Given the description of an element on the screen output the (x, y) to click on. 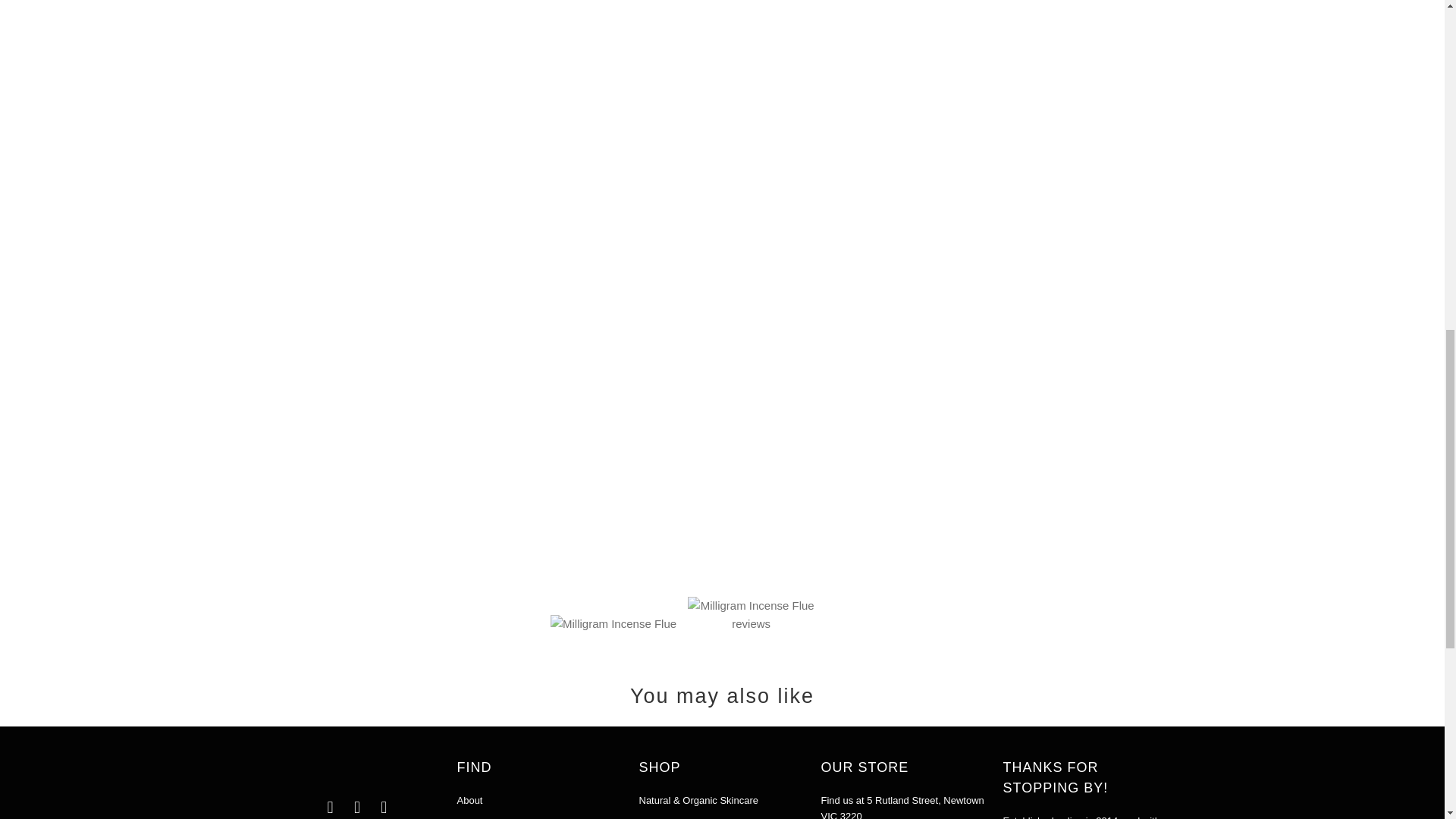
Natural Supply Co on Instagram (357, 807)
Natural Supply Co on TikTok (384, 807)
Natural Supply Co on Facebook (330, 807)
